Given the description of an element on the screen output the (x, y) to click on. 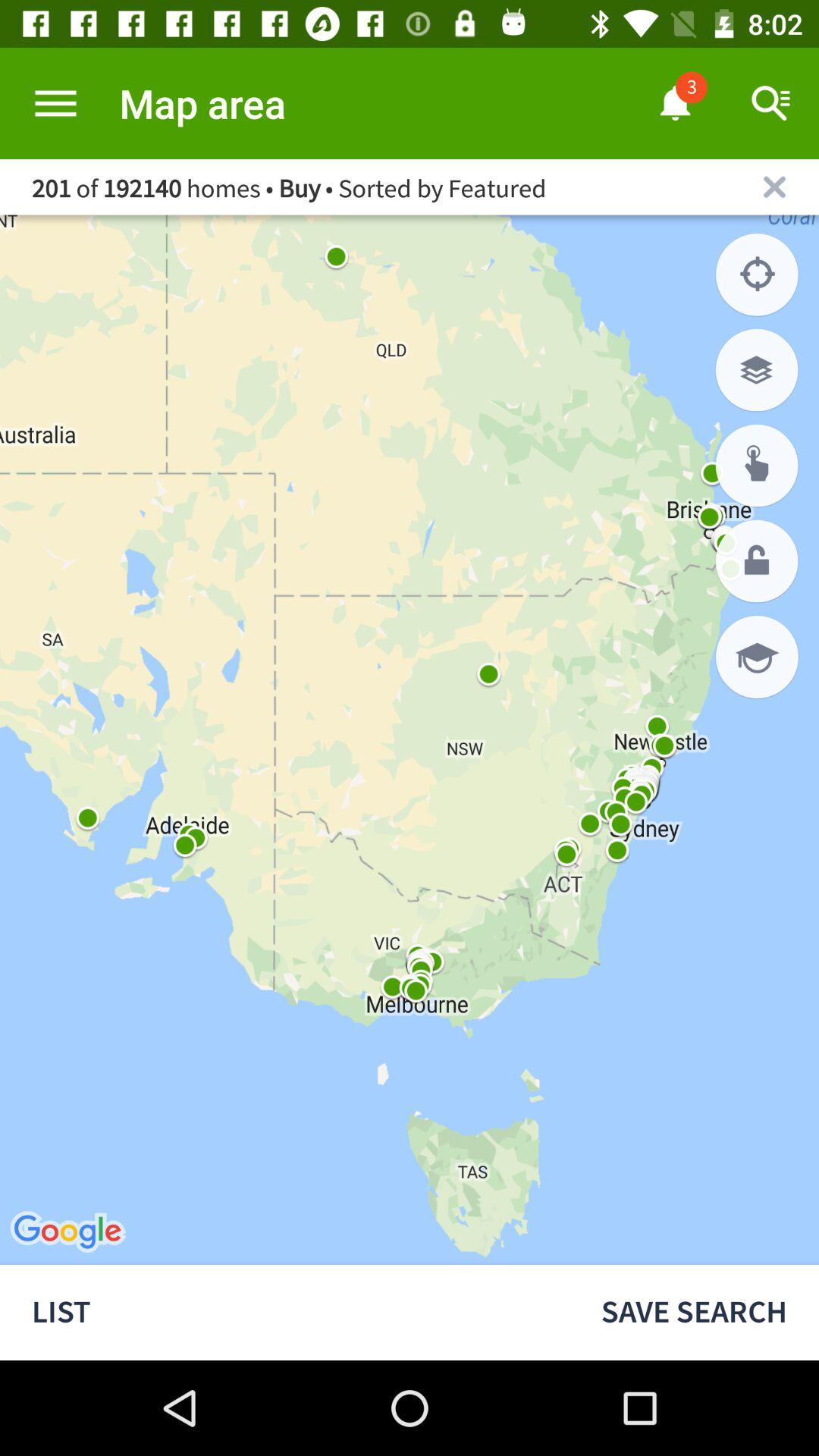
swipe to the list icon (284, 1312)
